Given the description of an element on the screen output the (x, y) to click on. 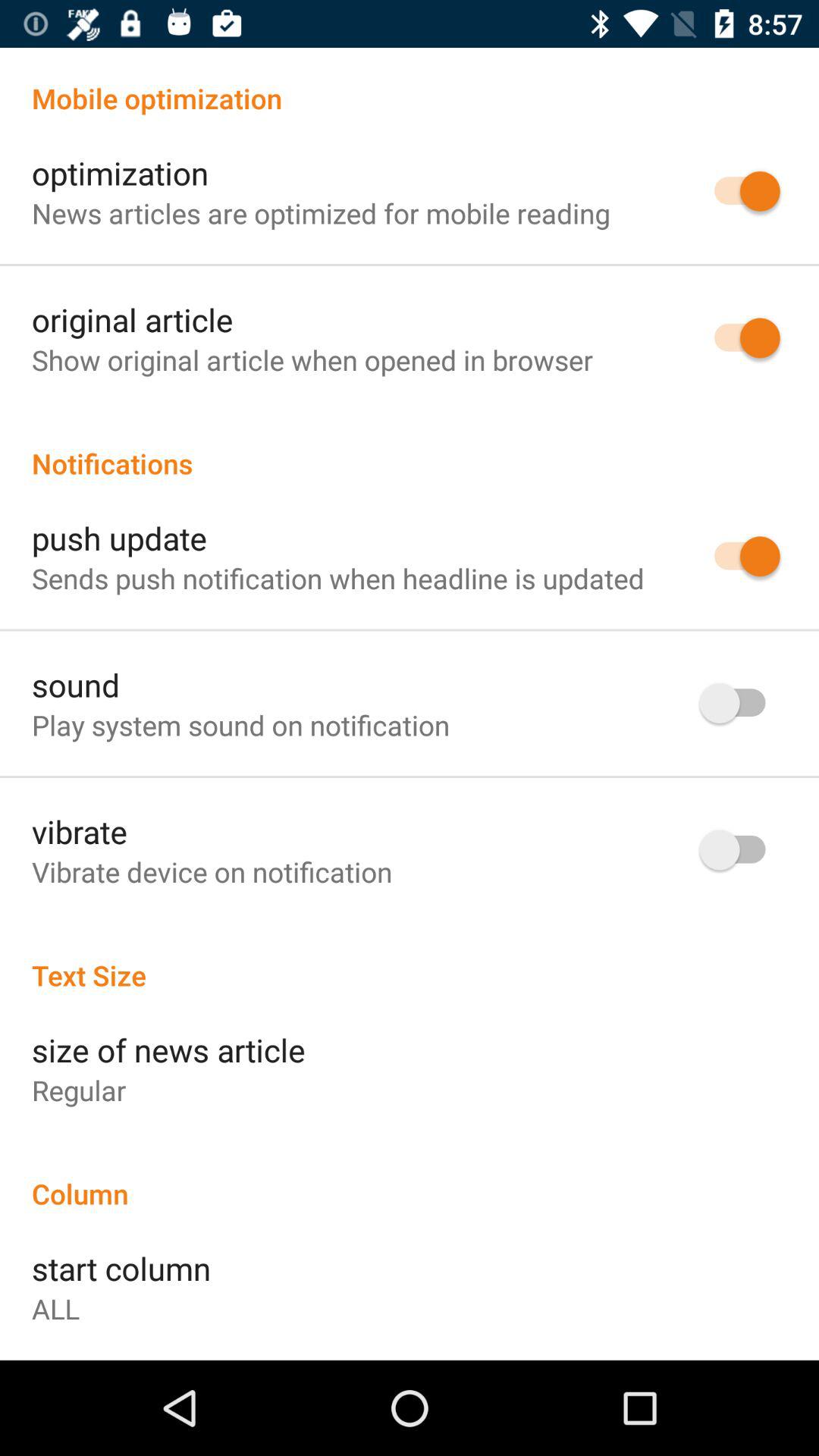
scroll until the vibrate device on icon (211, 871)
